Given the description of an element on the screen output the (x, y) to click on. 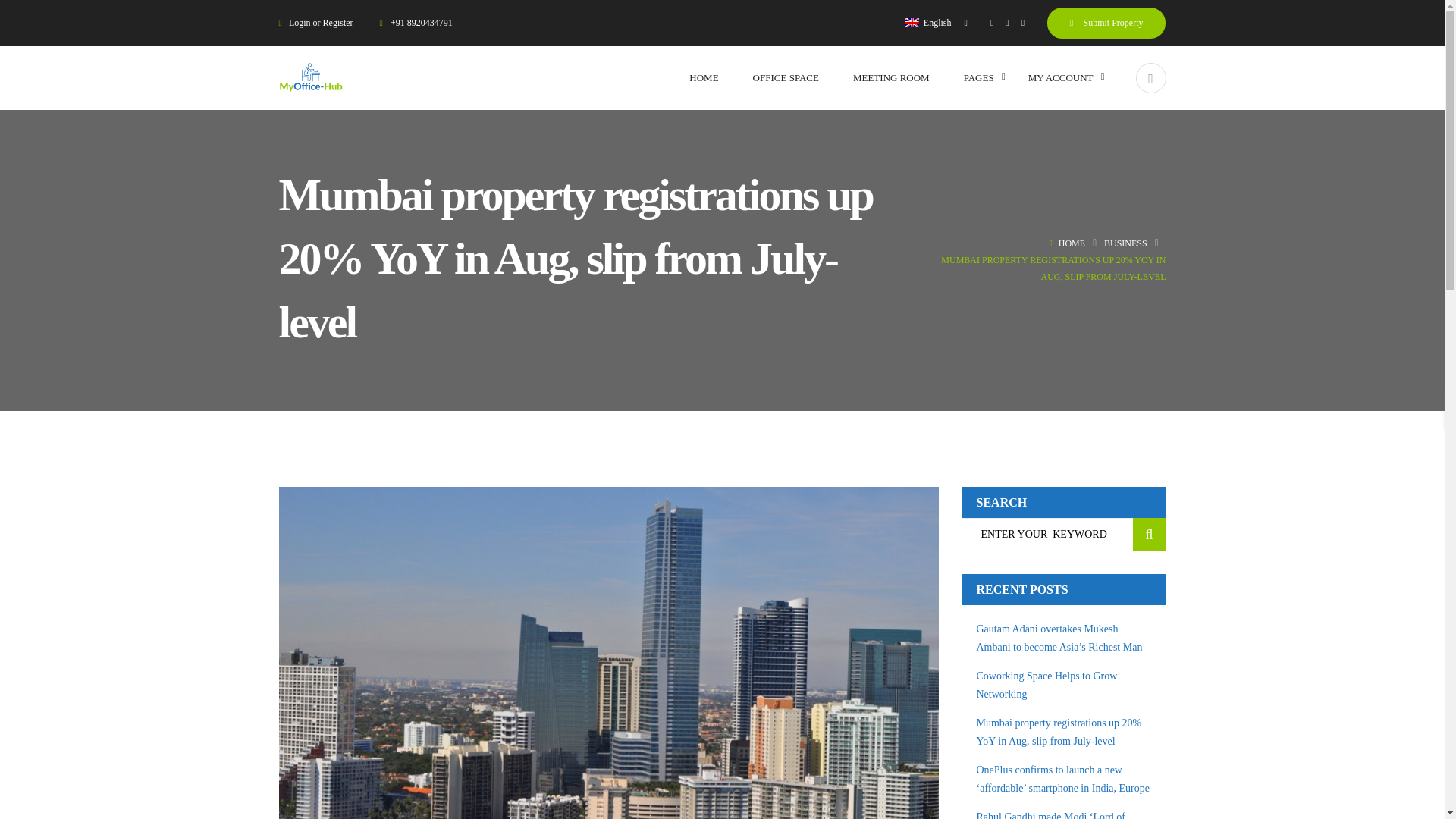
MY ACCOUNT (1060, 77)
English (911, 22)
Submit Property (1106, 22)
Login or Register (322, 22)
PAGES (978, 77)
MEETING ROOM (891, 77)
OFFICE SPACE (785, 77)
HOME (702, 77)
Submit Property (1106, 22)
  English (936, 22)
